Given the description of an element on the screen output the (x, y) to click on. 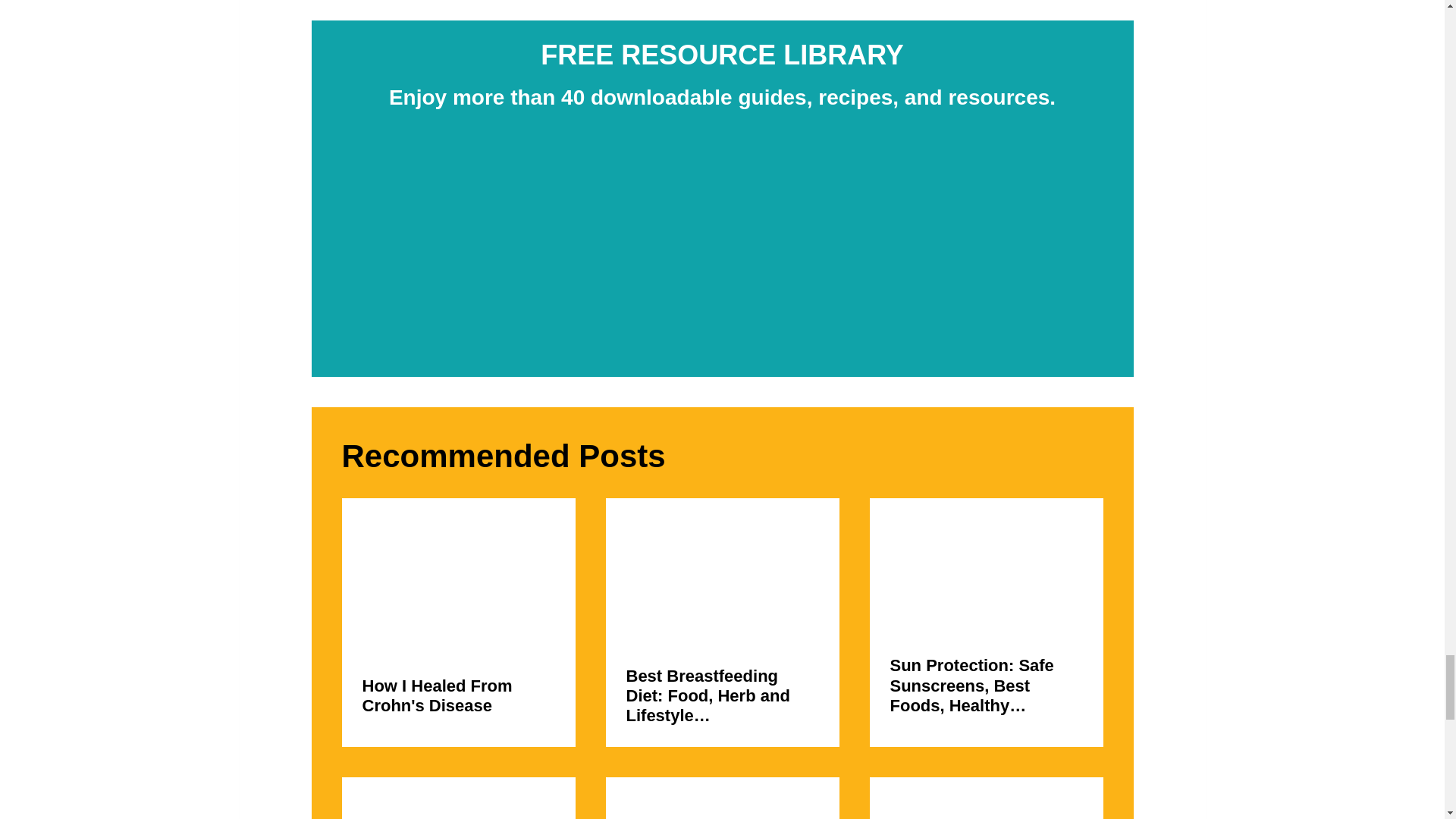
Plant-Based Protein: A Culinary Nutrition Guide (458, 808)
The Birth Control Pill: Sex, Drugs and Mood Swings (722, 808)
How I Healed From Crohn's Disease (458, 582)
